Given the description of an element on the screen output the (x, y) to click on. 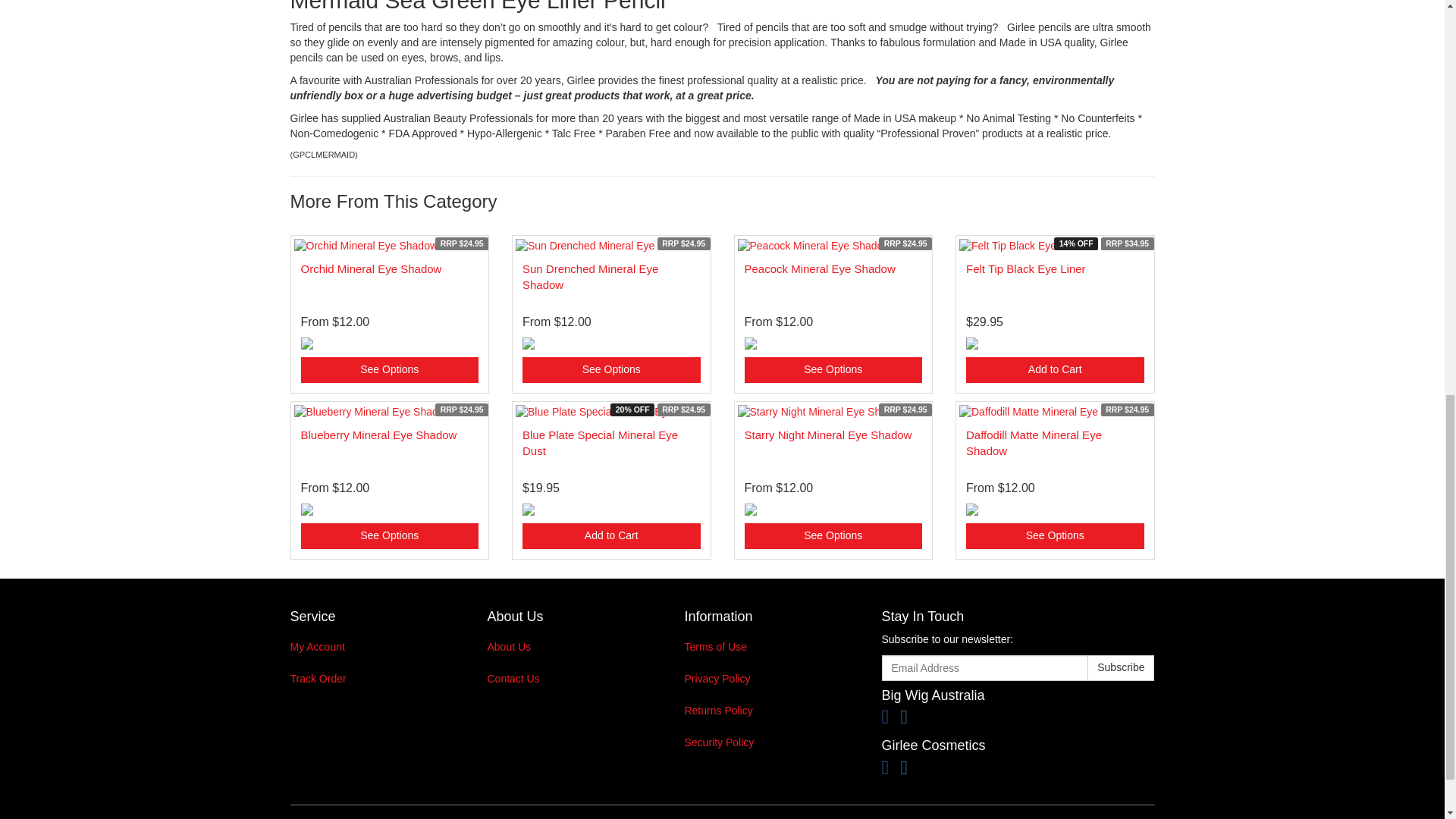
Buying Options (389, 370)
Starry Night Mineral Eye Shadow (828, 434)
Orchid Mineral Eye  Shadow (370, 268)
Add to Cart (611, 535)
Add to Cart (1055, 370)
Blueberry Mineral Eye Shadow (378, 434)
Peacock Mineral Eye Shadow (819, 268)
Buying Options (1055, 535)
Buying Options (833, 370)
Sun Drenched Mineral Eye Shadow (590, 276)
Felt Tip Black Eye Liner (1026, 268)
Subscribe (1120, 667)
Buying Options (611, 370)
Daffodill Matte Mineral Eye Shadow (1034, 442)
Buying Options (833, 535)
